Given the description of an element on the screen output the (x, y) to click on. 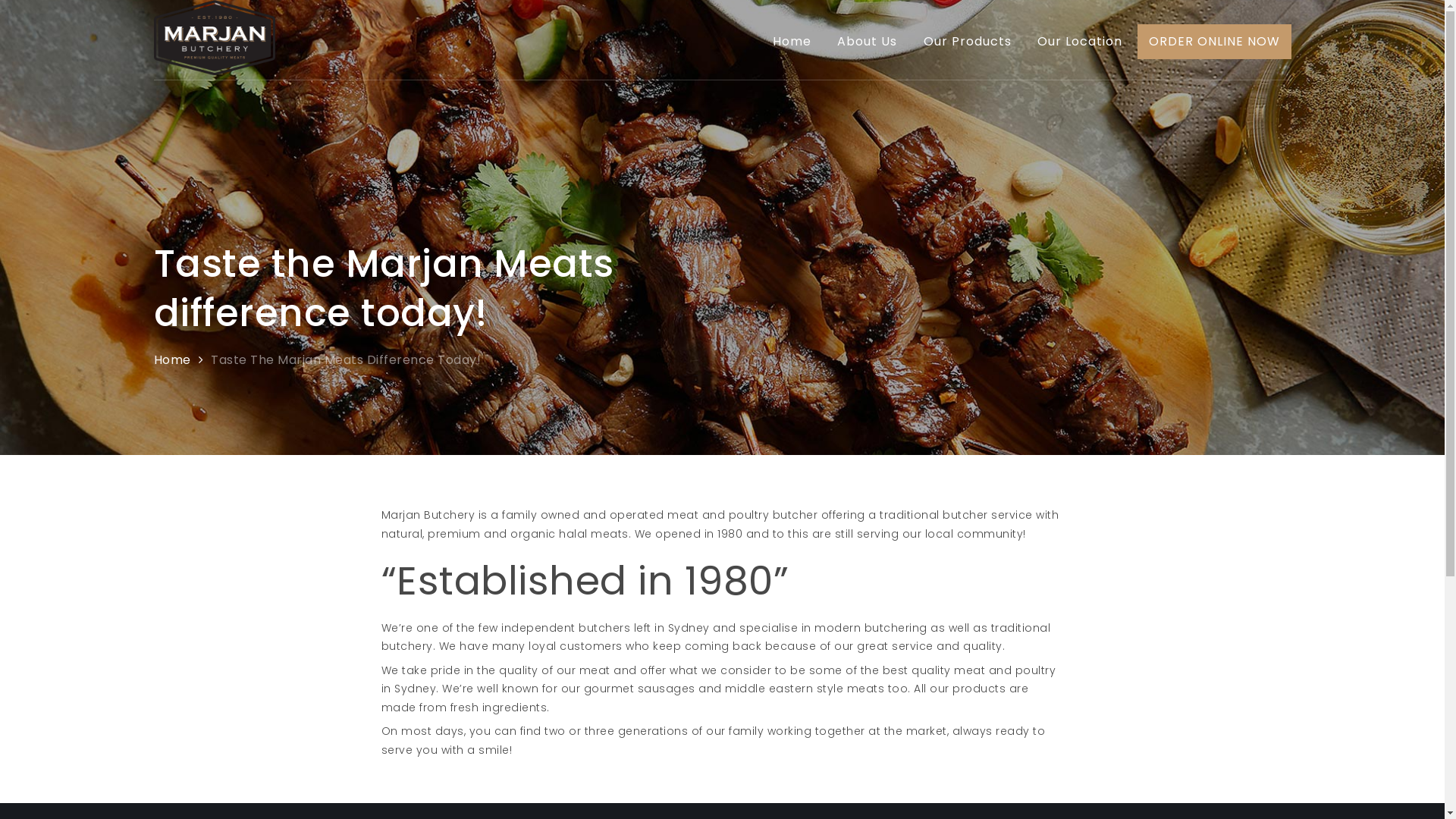
Our Location Element type: text (1079, 41)
Home Element type: text (171, 359)
About Us Element type: text (866, 41)
Our Products Element type: text (966, 41)
ORDER ONLINE NOW Element type: text (1214, 41)
Marjan Butchery Element type: text (384, 46)
Home Element type: text (791, 41)
